Given the description of an element on the screen output the (x, y) to click on. 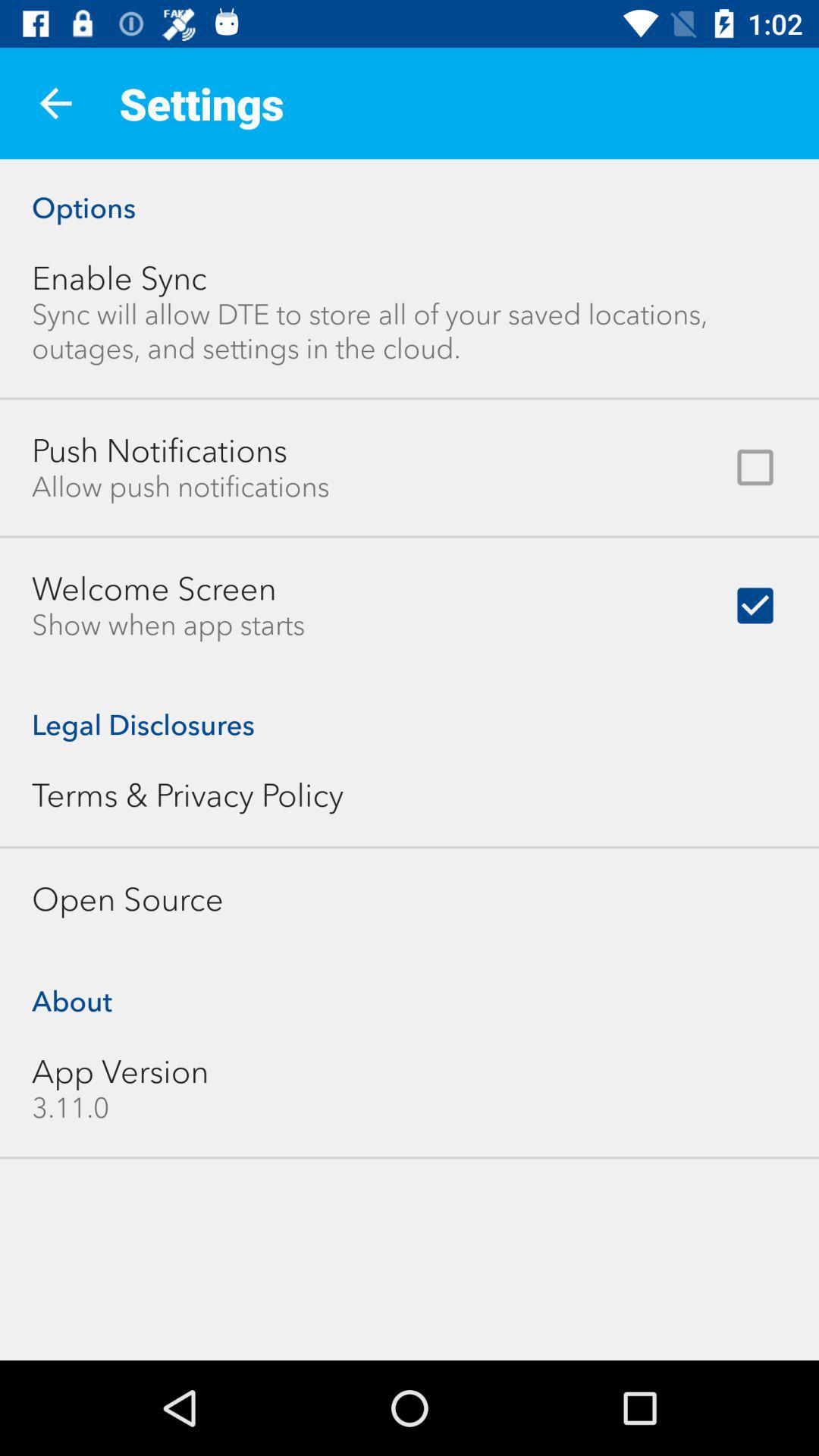
scroll until app version icon (119, 1071)
